Given the description of an element on the screen output the (x, y) to click on. 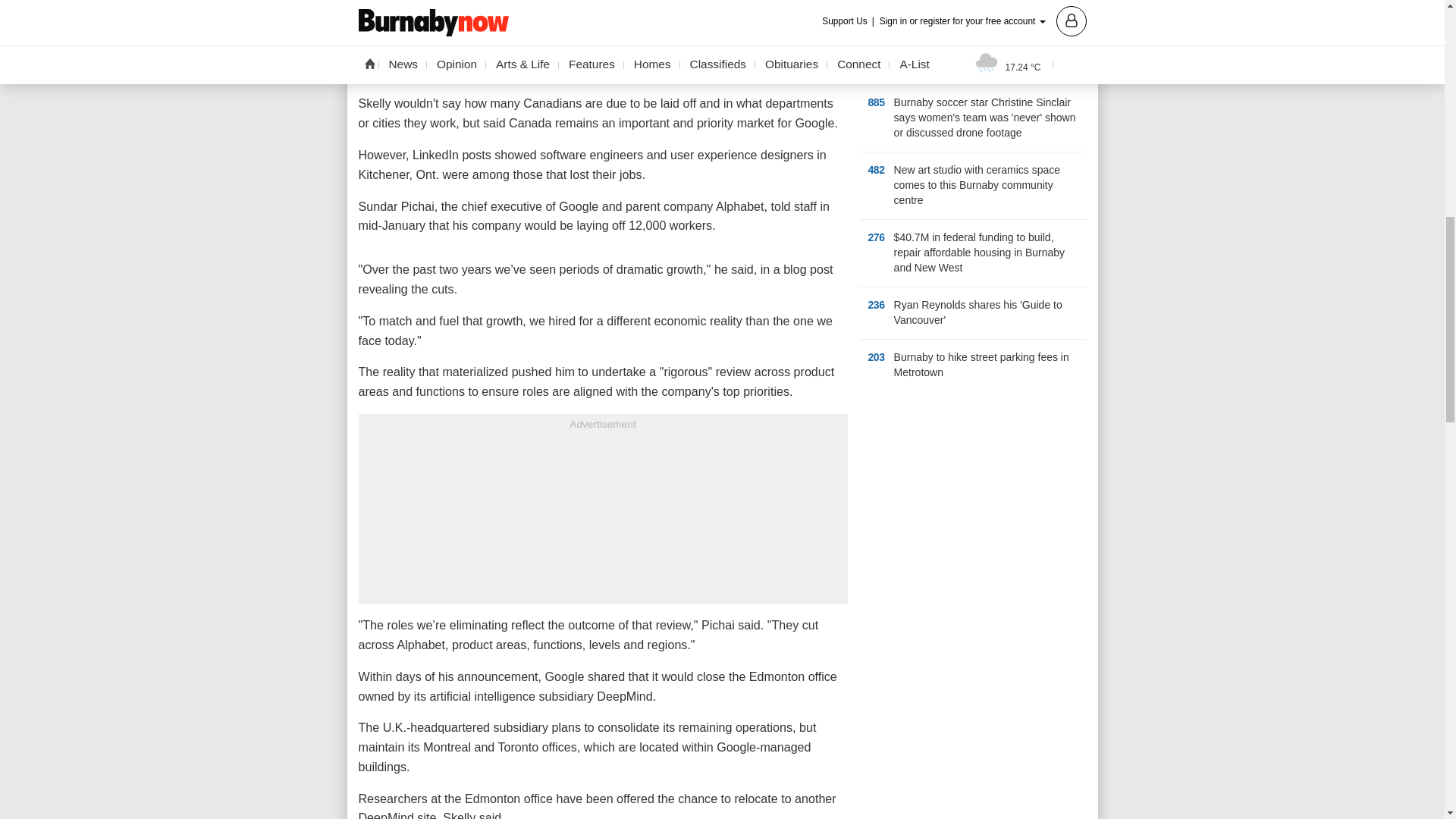
Has a gallery (952, 372)
